Given the description of an element on the screen output the (x, y) to click on. 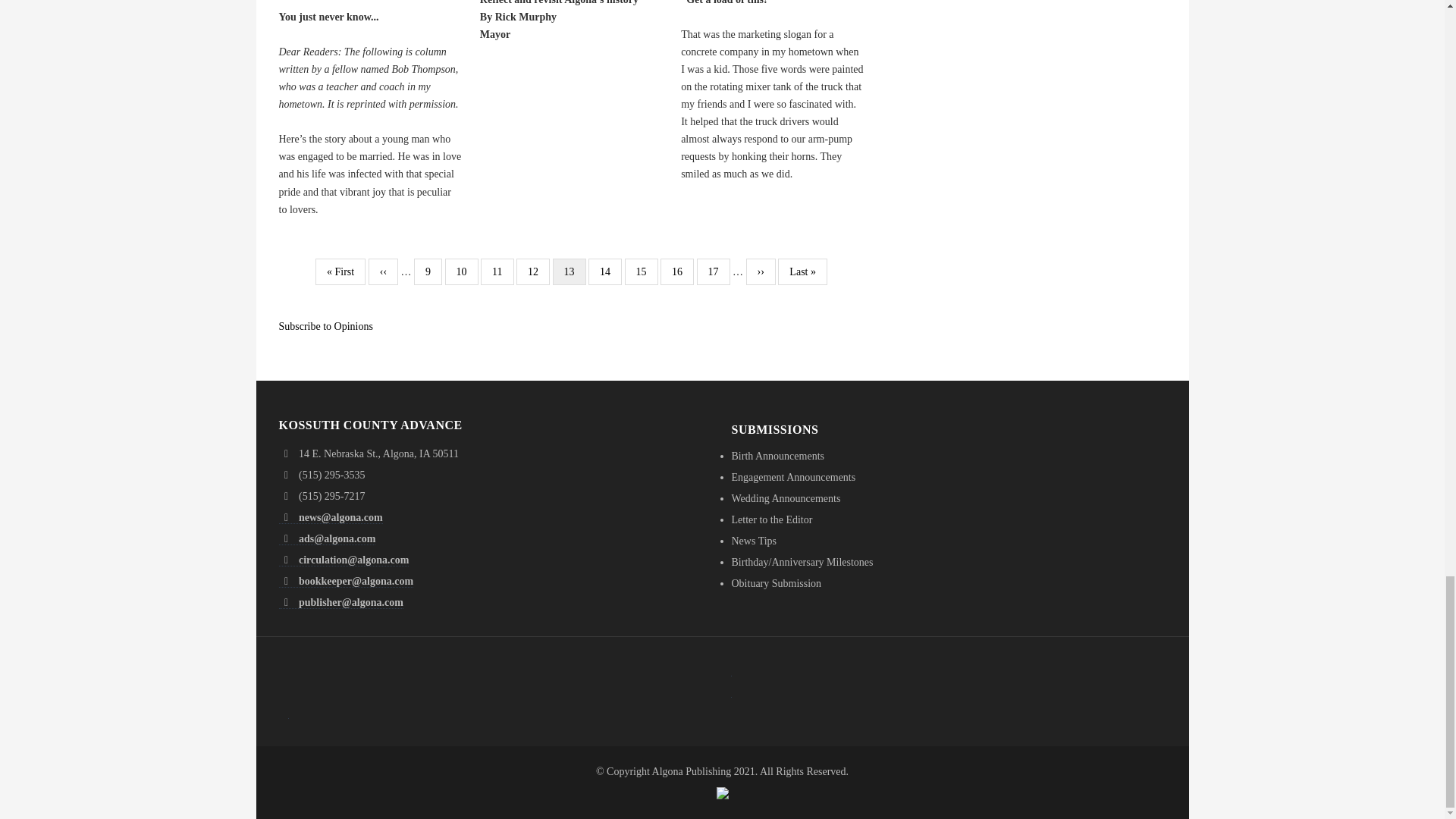
Go to page 14 (604, 271)
Go to next page (760, 271)
Go to page 11 (496, 271)
Go to page 15 (641, 271)
Go to last page (802, 271)
Go to page 12 (533, 271)
Go to page 17 (713, 271)
Go to page 16 (677, 271)
Go to page 10 (462, 271)
Go to first page (340, 271)
Go to previous page (382, 271)
Go to page 9 (427, 271)
Current page (569, 271)
